Given the description of an element on the screen output the (x, y) to click on. 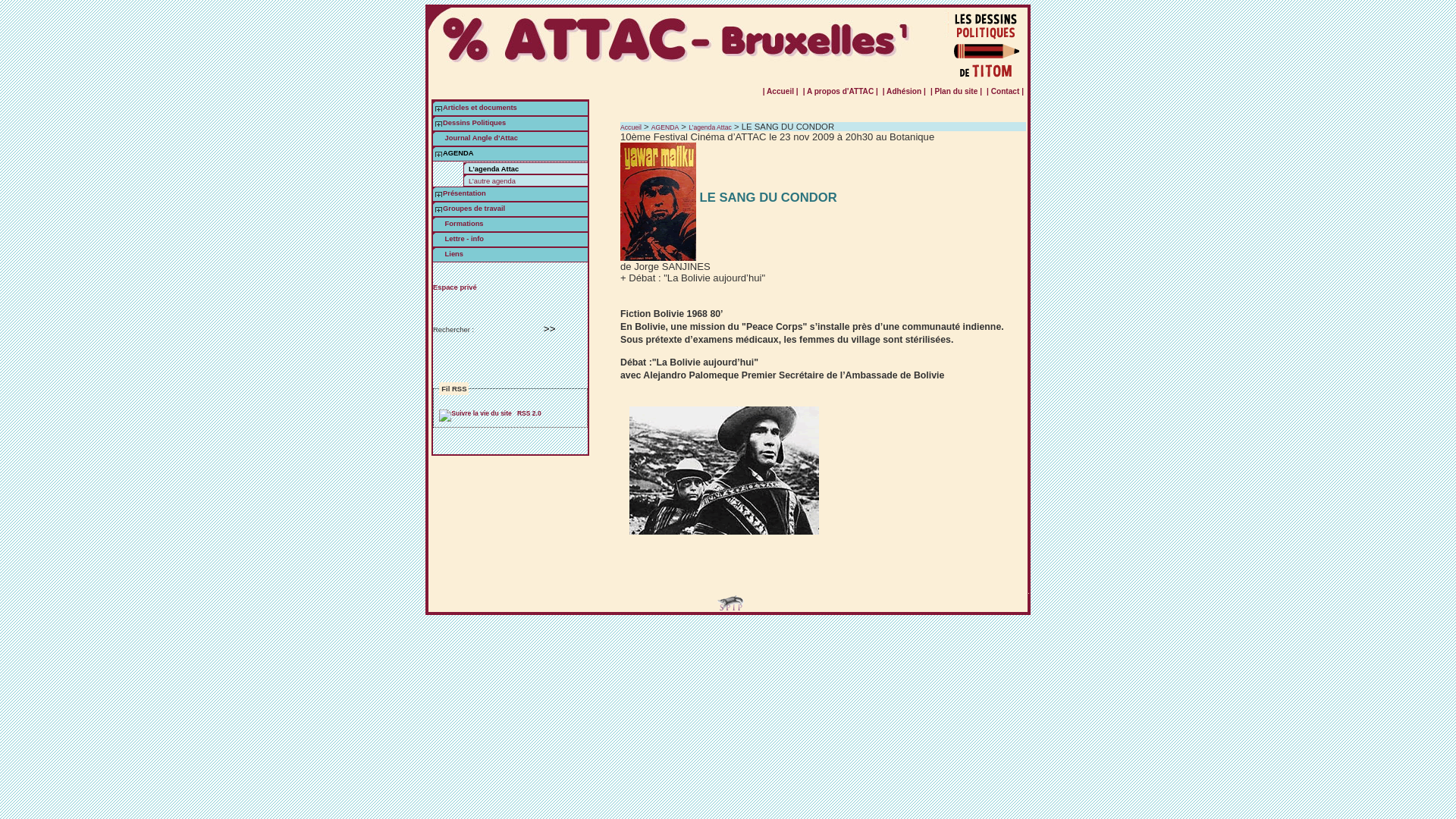
| Contact | Element type: text (1005, 91)
| Plan du site | Element type: text (956, 91)
      Liens Element type: text (448, 253)
Articles et documents Element type: text (479, 107)
      Element type: text (437, 208)
Groupes de travail Element type: text (473, 208)
| A propos d'ATTAC | Element type: text (840, 91)
      Formations Element type: text (458, 223)
AGENDA Element type: text (664, 127)
Dessins Politiques Element type: text (473, 122)
   RSS 2.0 Element type: text (489, 413)
| Accueil | Element type: text (780, 91)
Rechercher Element type: hover (549, 328)
      Element type: text (437, 122)
Accueil Element type: text (630, 127)
      Element type: text (437, 107)
      Lettre - info Element type: text (458, 238)
AGENDA Element type: text (457, 152)
      Element type: text (437, 152)
      Element type: text (437, 193)
>> Element type: text (549, 328)
